Given the description of an element on the screen output the (x, y) to click on. 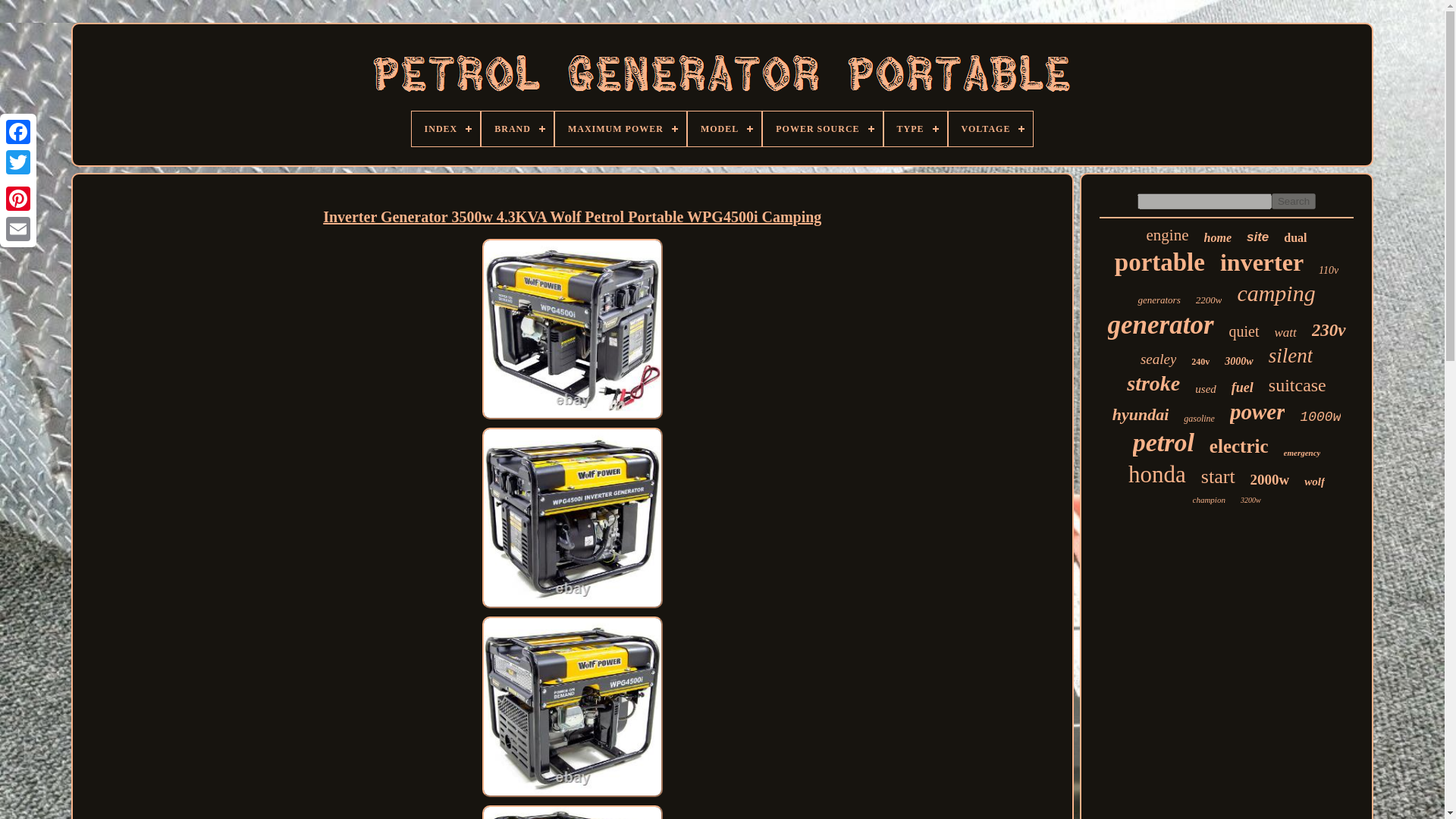
Facebook (17, 132)
MAXIMUM POWER (619, 128)
INDEX (446, 128)
BRAND (517, 128)
Search (1293, 201)
